Given the description of an element on the screen output the (x, y) to click on. 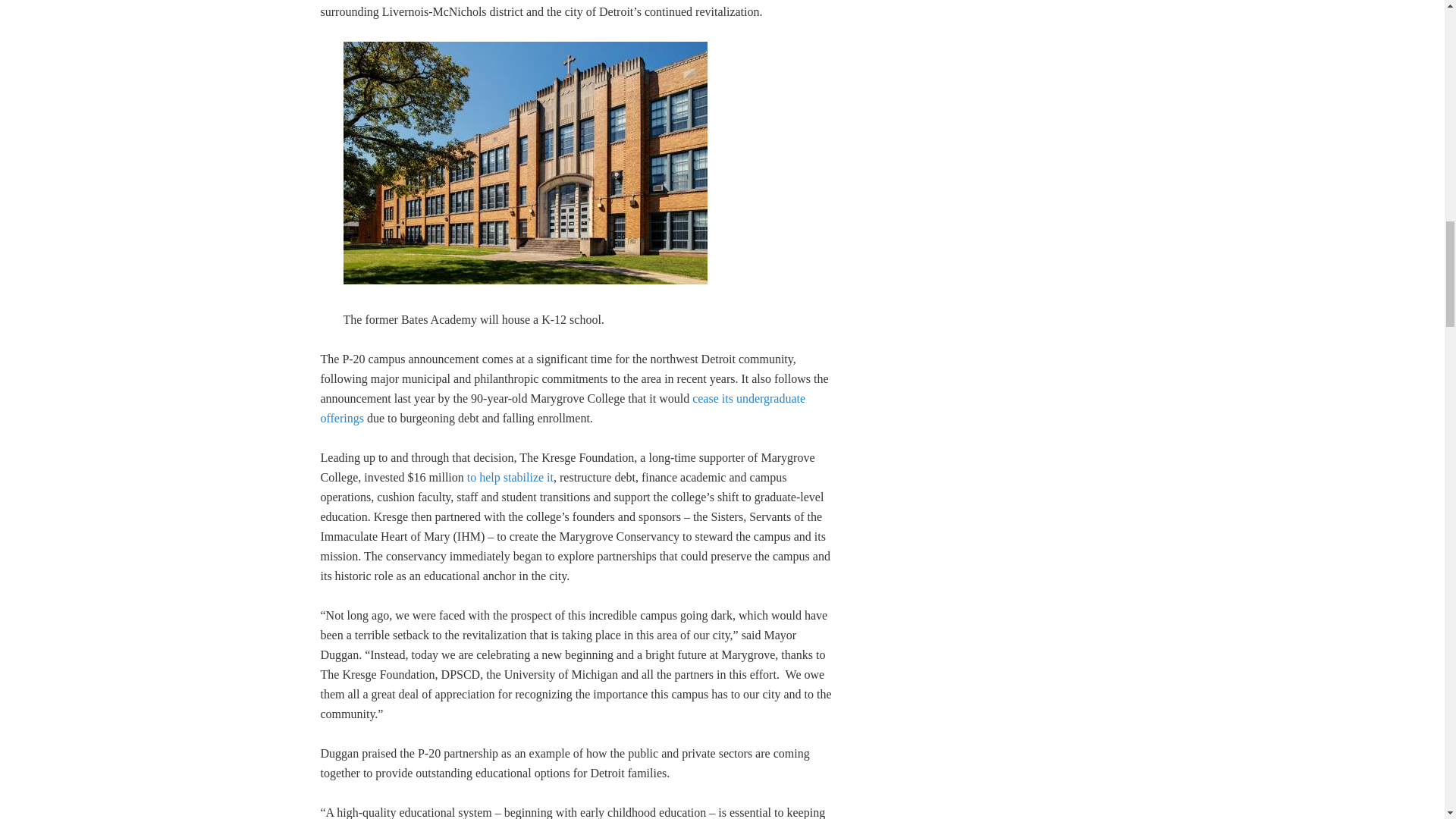
bates-marygrove-900px.jpg (524, 161)
cease its undergraduate offerings (562, 407)
to help stabilize it (510, 476)
